Given the description of an element on the screen output the (x, y) to click on. 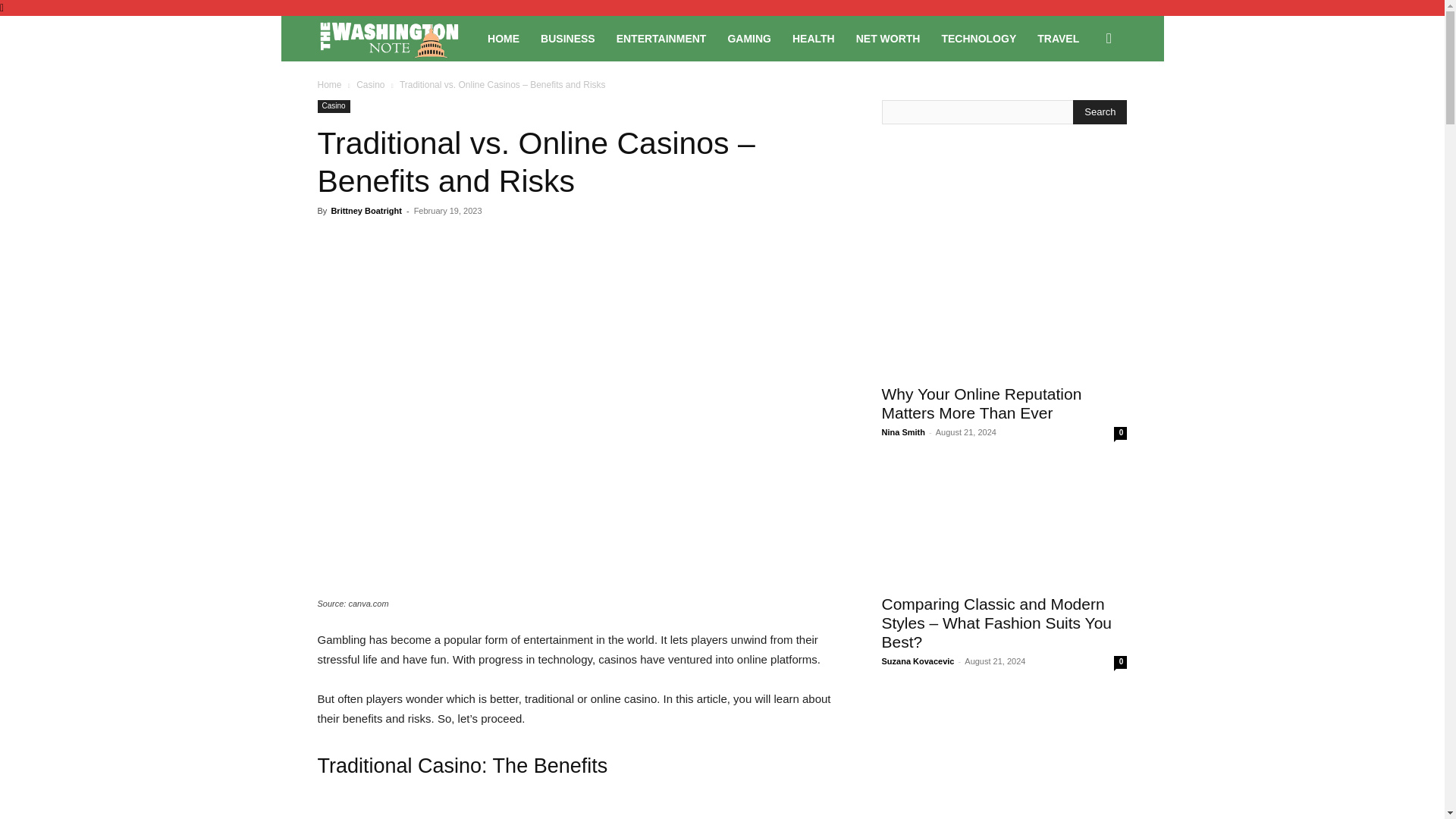
Search (1099, 111)
BUSINESS (567, 38)
TECHNOLOGY (978, 38)
Why Your Online Reputation Matters More Than Ever (980, 402)
Search (1085, 103)
HEALTH (813, 38)
Why Your Online Reputation Matters More Than Ever (1003, 313)
GAMING (748, 38)
ENTERTAINMENT (661, 38)
NET WORTH (888, 38)
